Given the description of an element on the screen output the (x, y) to click on. 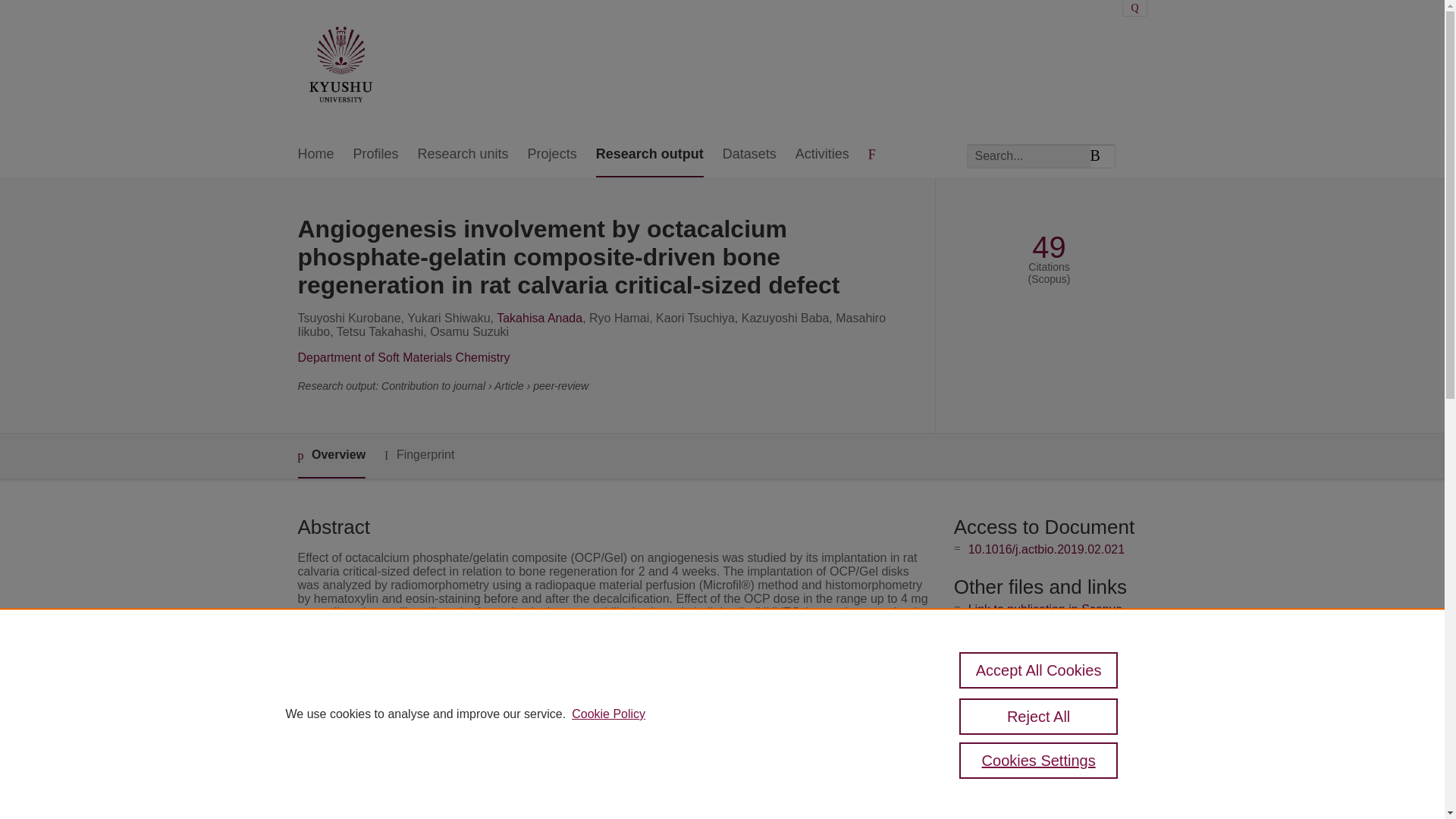
Activities (821, 154)
Link to publication in Scopus (1045, 608)
Link to the citations in Scopus (1048, 634)
49 (1048, 247)
Fingerprint (419, 455)
Research output (649, 154)
Datasets (749, 154)
Department of Soft Materials Chemistry (403, 357)
Overview (331, 456)
